Given the description of an element on the screen output the (x, y) to click on. 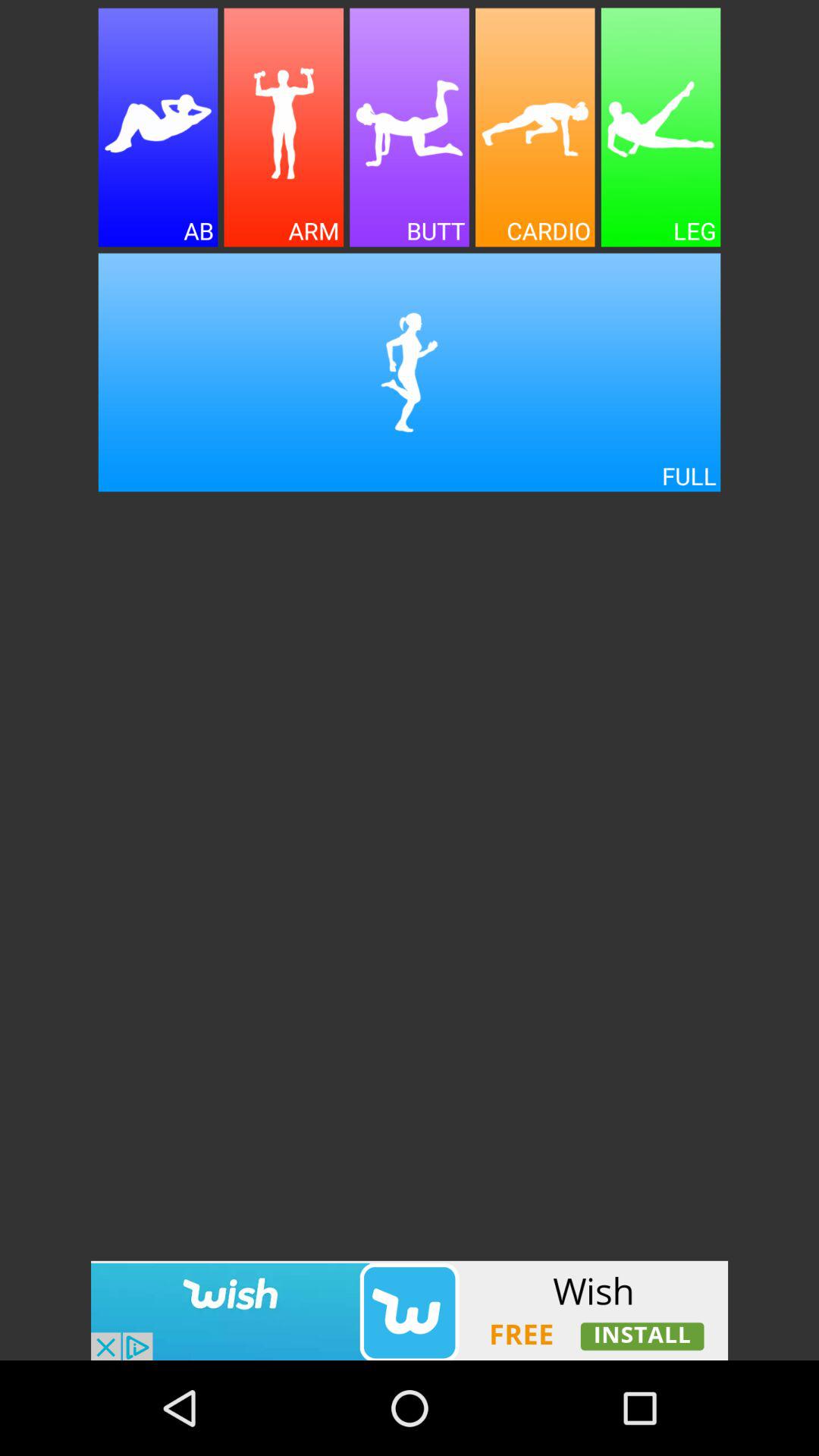
go to arm workouts (283, 126)
